Given the description of an element on the screen output the (x, y) to click on. 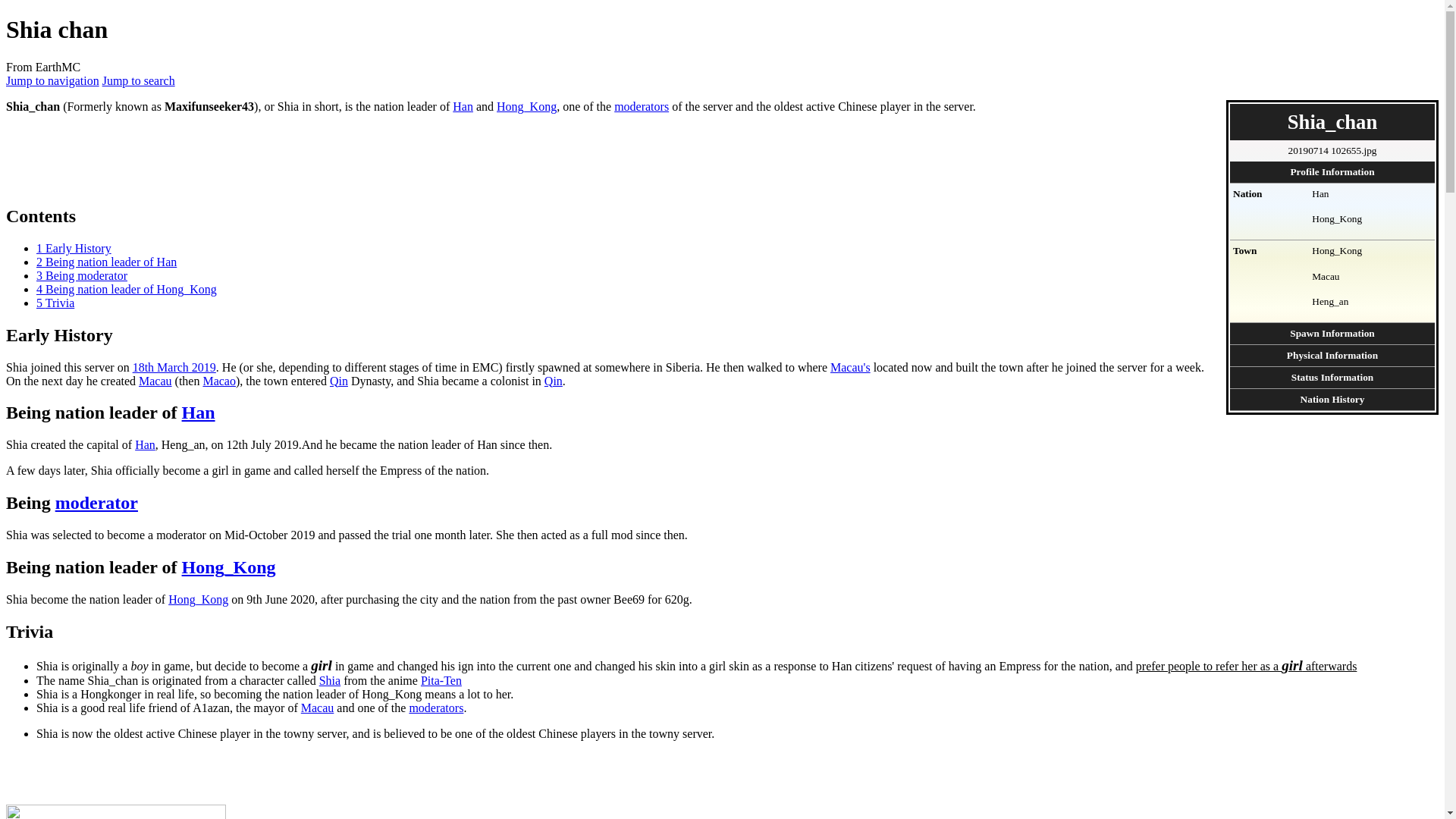
moderators (641, 106)
Hong Kong (229, 567)
Qin (338, 380)
3 Being moderator (82, 275)
List of All Staff (641, 106)
List of All Staff (96, 502)
Hong Kong (198, 599)
Macau (154, 380)
Qin (553, 380)
Hong Kong (526, 106)
Crepuscular Era (173, 367)
18th March 2019 (173, 367)
2 Being nation leader of Han (106, 261)
Macau's (849, 367)
1 Early History (74, 247)
